Given the description of an element on the screen output the (x, y) to click on. 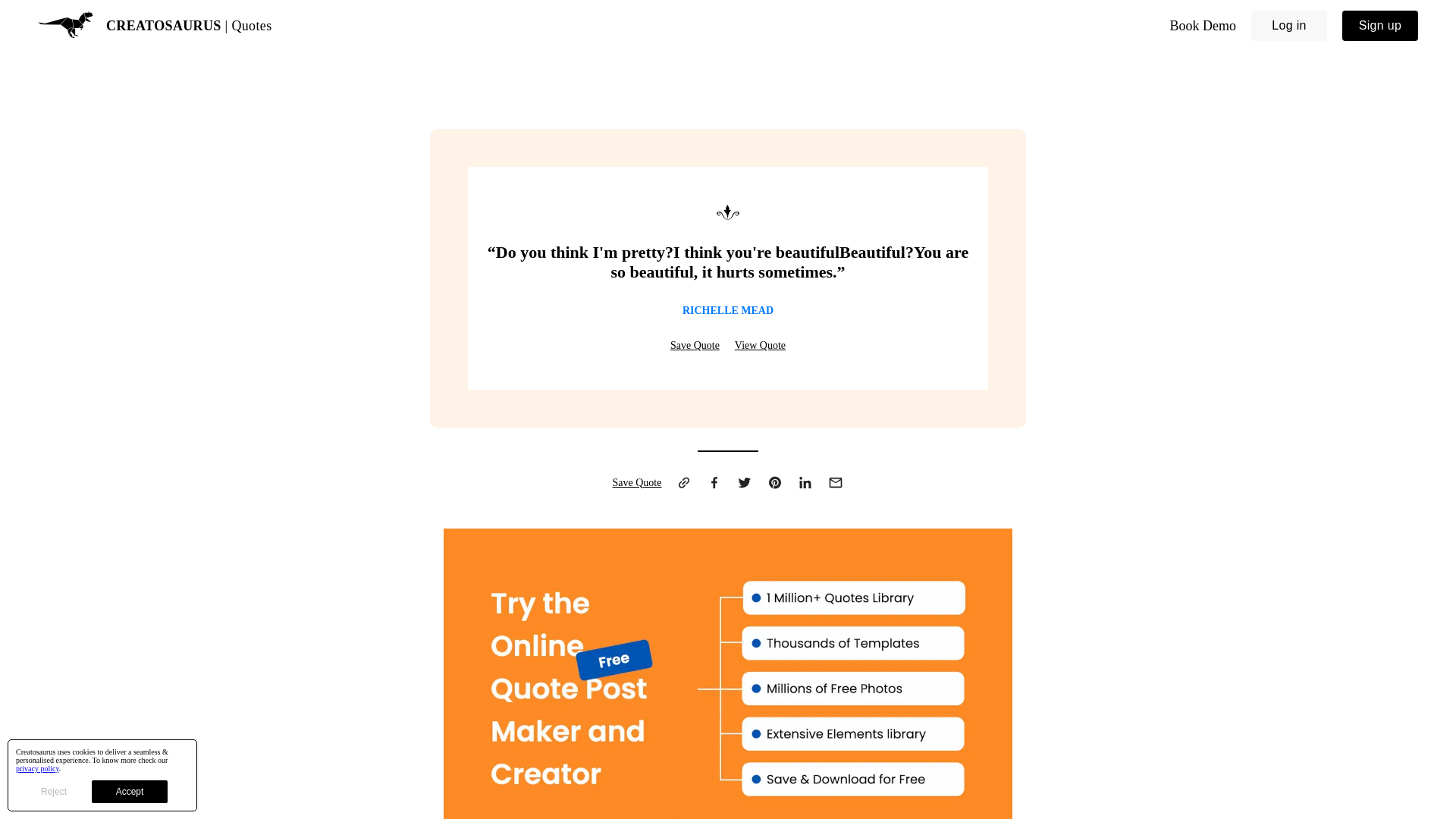
Book Demo (1202, 26)
Log in (1288, 25)
Sign up (1380, 25)
RICHELLE MEAD (727, 310)
View Quote (760, 345)
